Given the description of an element on the screen output the (x, y) to click on. 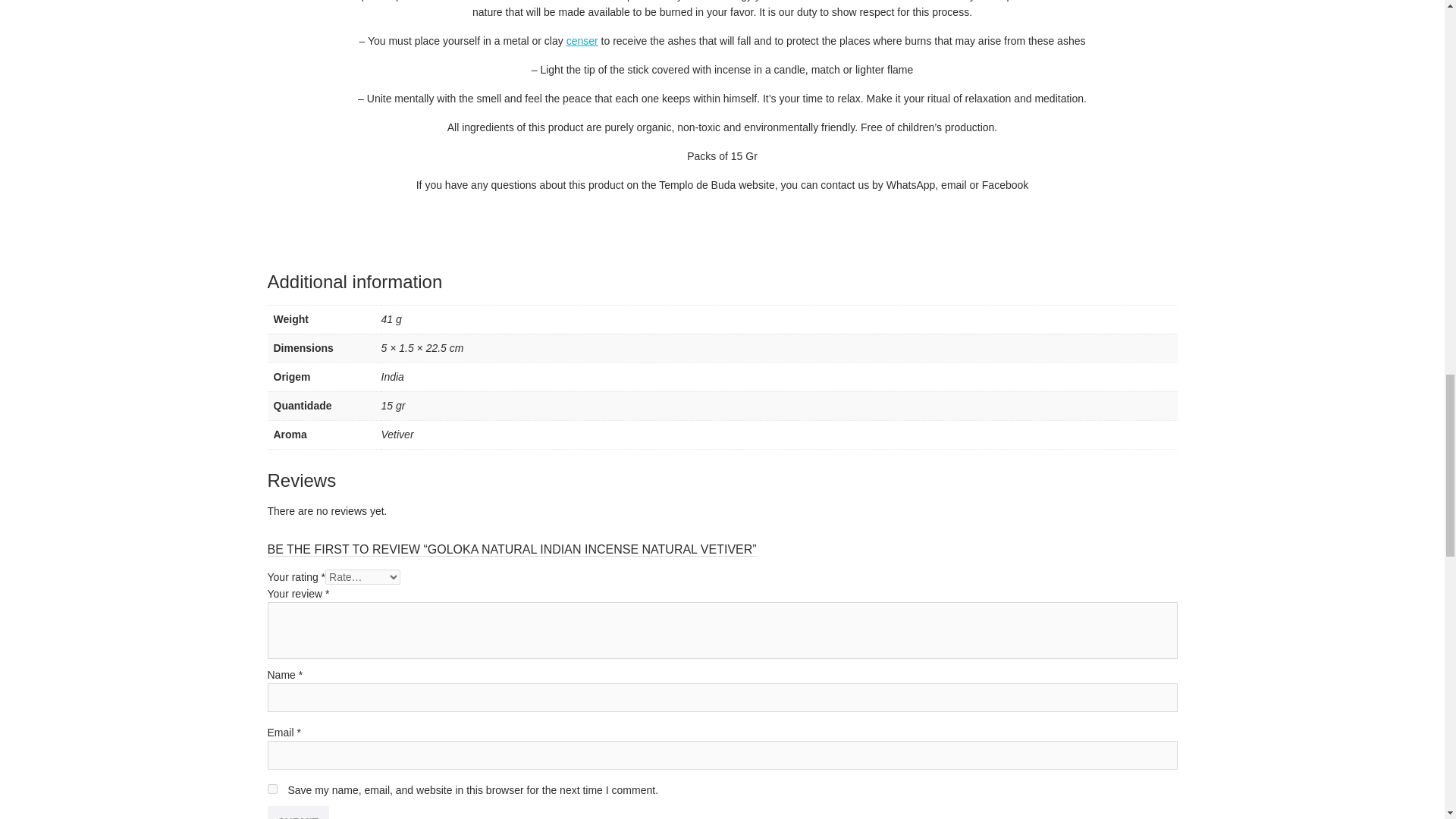
Submit (297, 812)
yes (271, 788)
